Given the description of an element on the screen output the (x, y) to click on. 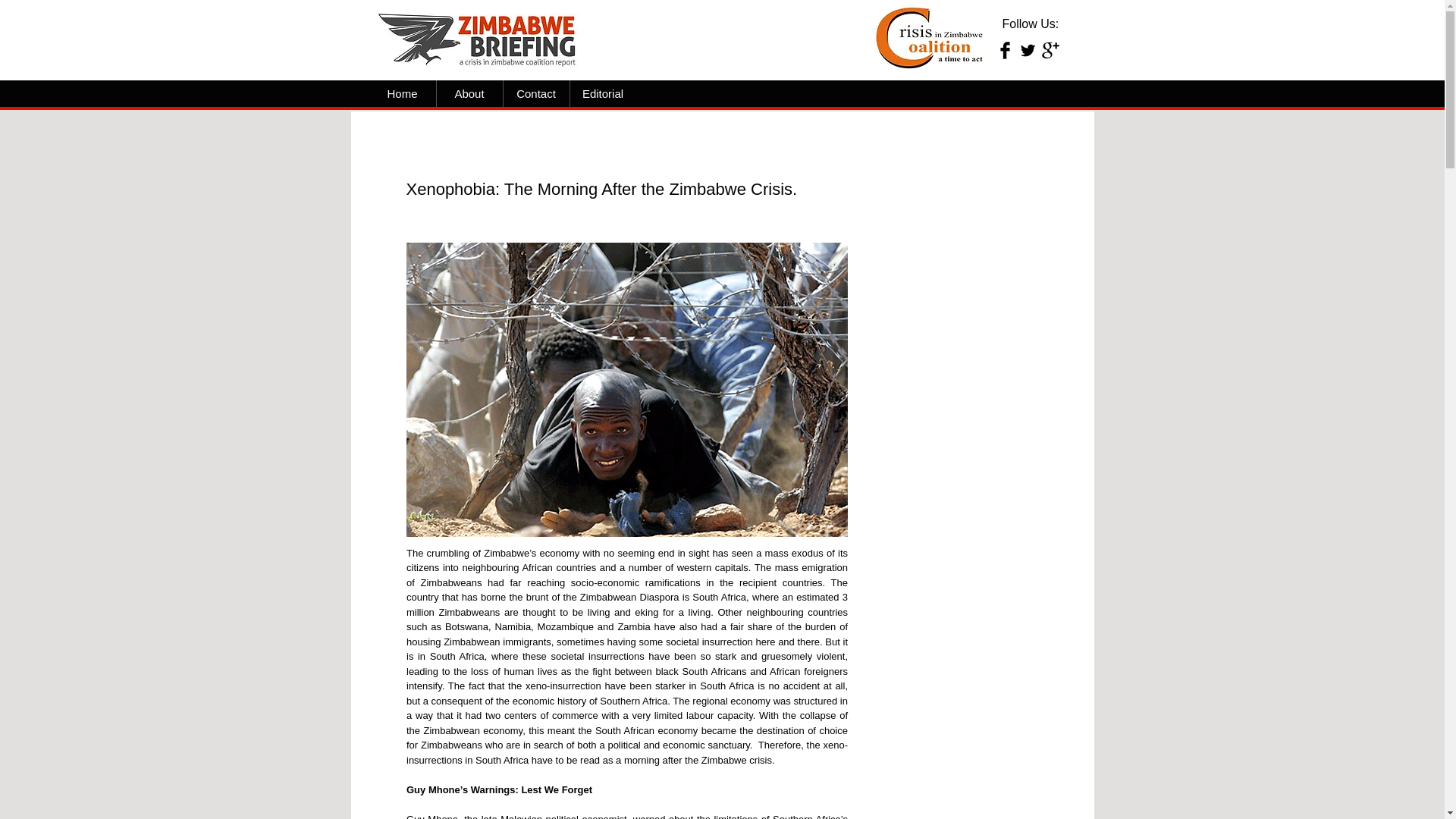
About (469, 93)
Editorial (603, 93)
Home (401, 93)
Contact (536, 93)
image001.jpg (481, 38)
